Given the description of an element on the screen output the (x, y) to click on. 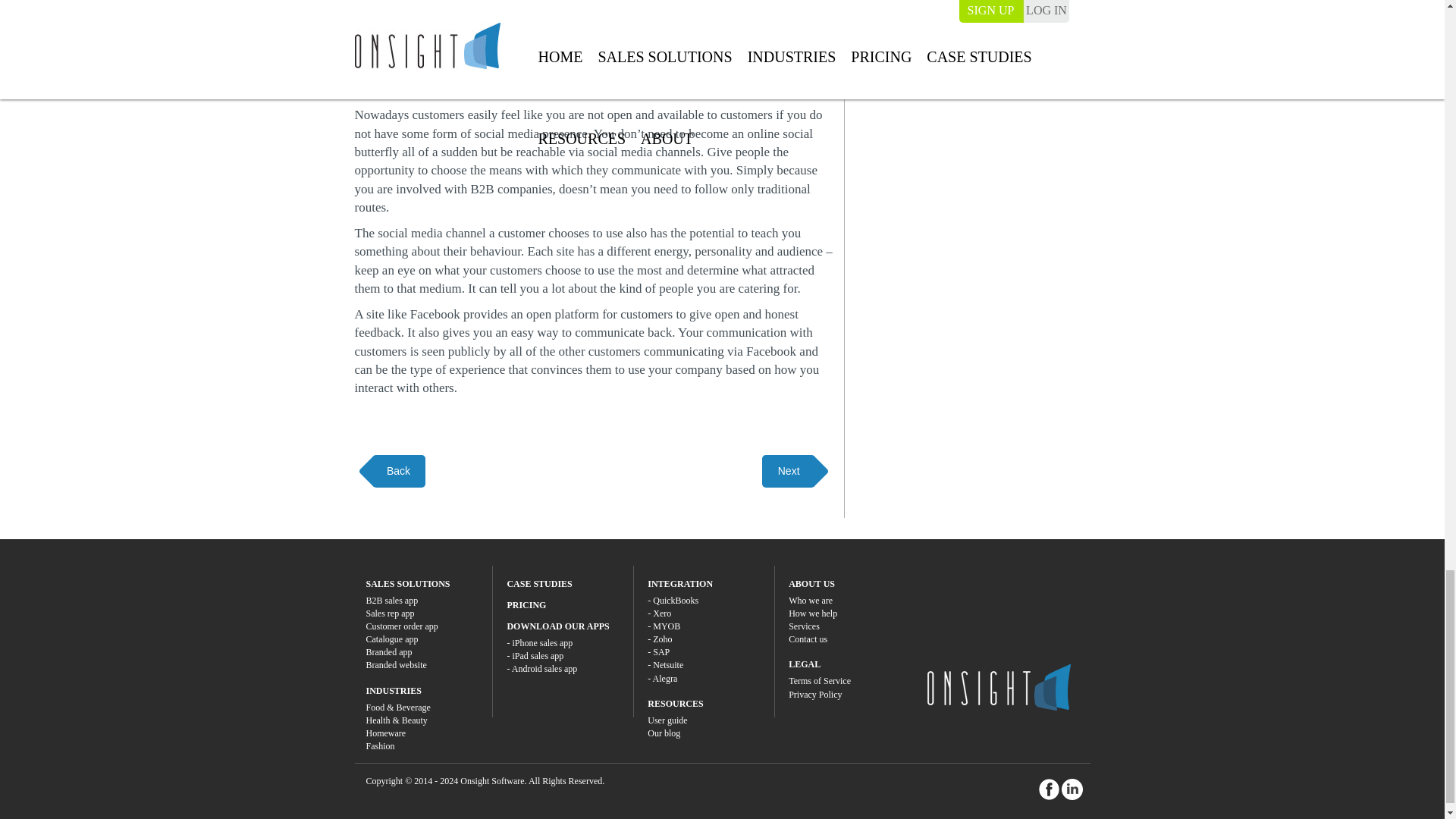
Onsight (998, 687)
Facebook (1049, 789)
LinkedIn (1072, 789)
